Given the description of an element on the screen output the (x, y) to click on. 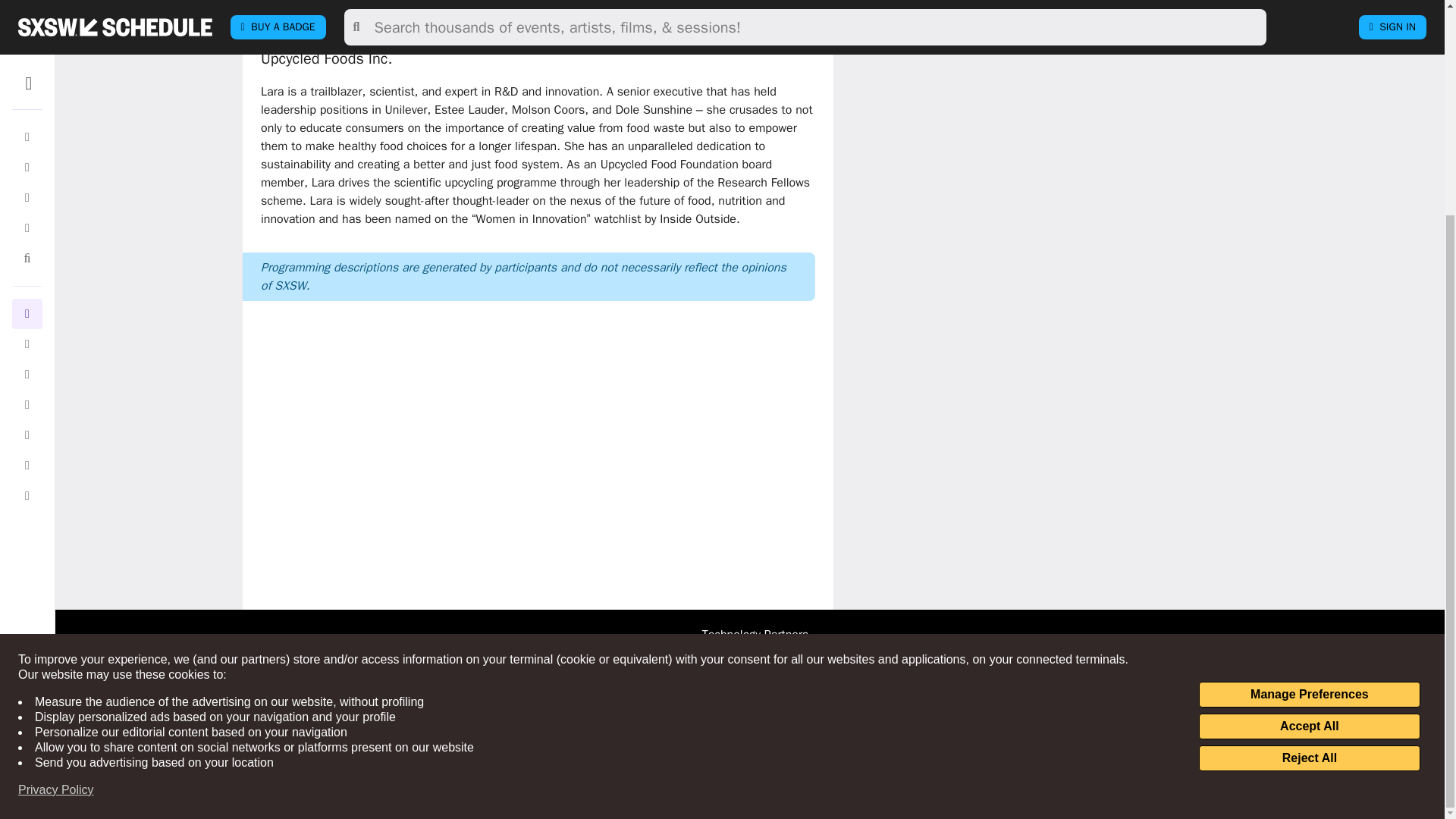
Manage Preferences (1309, 412)
Reject All (1309, 475)
Accept All (1309, 444)
Privacy Policy (55, 507)
